Given the description of an element on the screen output the (x, y) to click on. 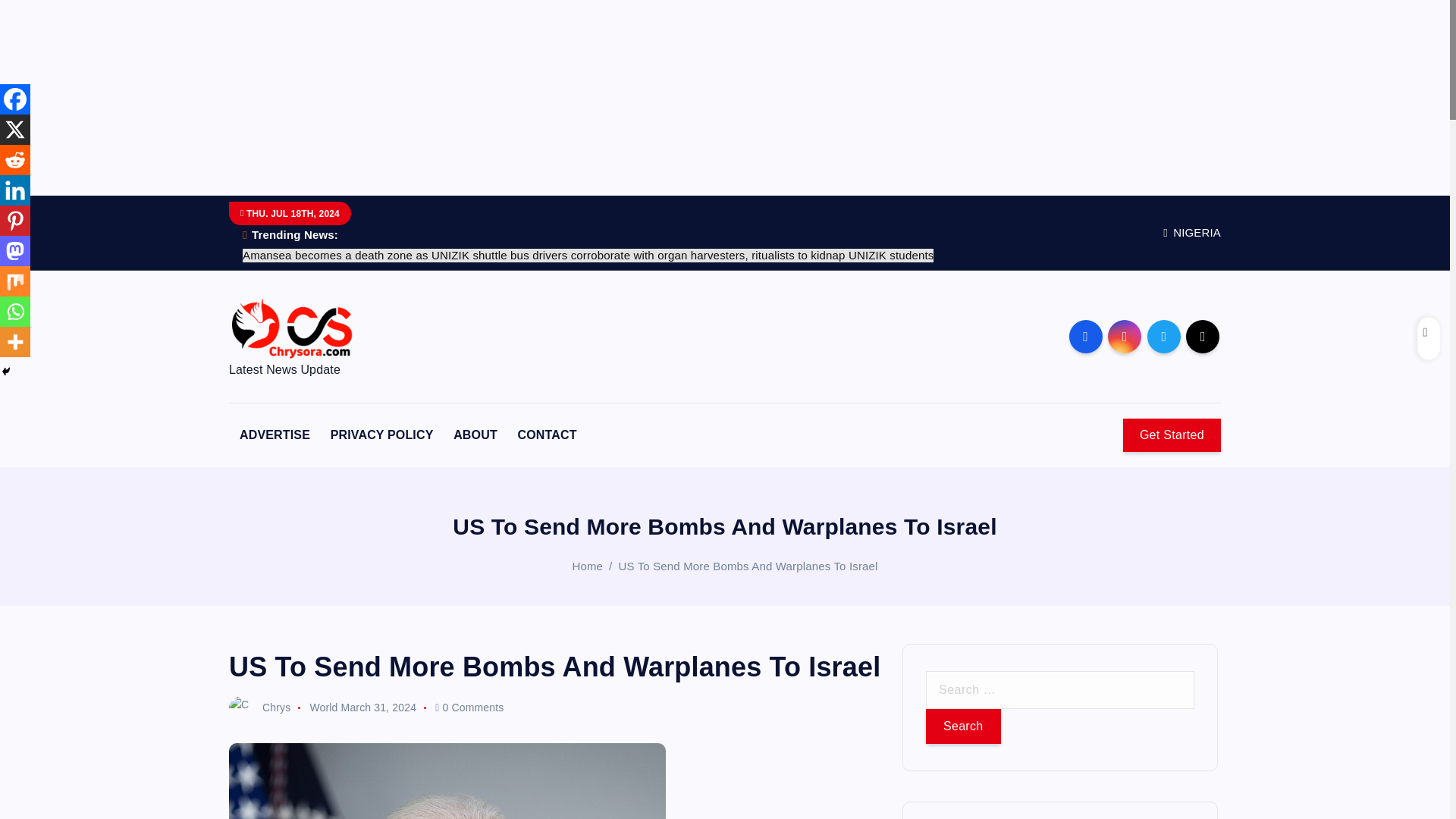
CONTACT (546, 434)
US To Send More Bombs And Warplanes To Israel (747, 565)
Search (963, 726)
Search (963, 726)
PRIVACY POLICY (382, 434)
ABOUT (475, 434)
ABOUT (475, 434)
CONTACT (546, 434)
Get Started (1171, 435)
World (322, 707)
Home (587, 565)
ADVERTISE (274, 434)
Chrys (258, 707)
PRIVACY POLICY (382, 434)
